Given the description of an element on the screen output the (x, y) to click on. 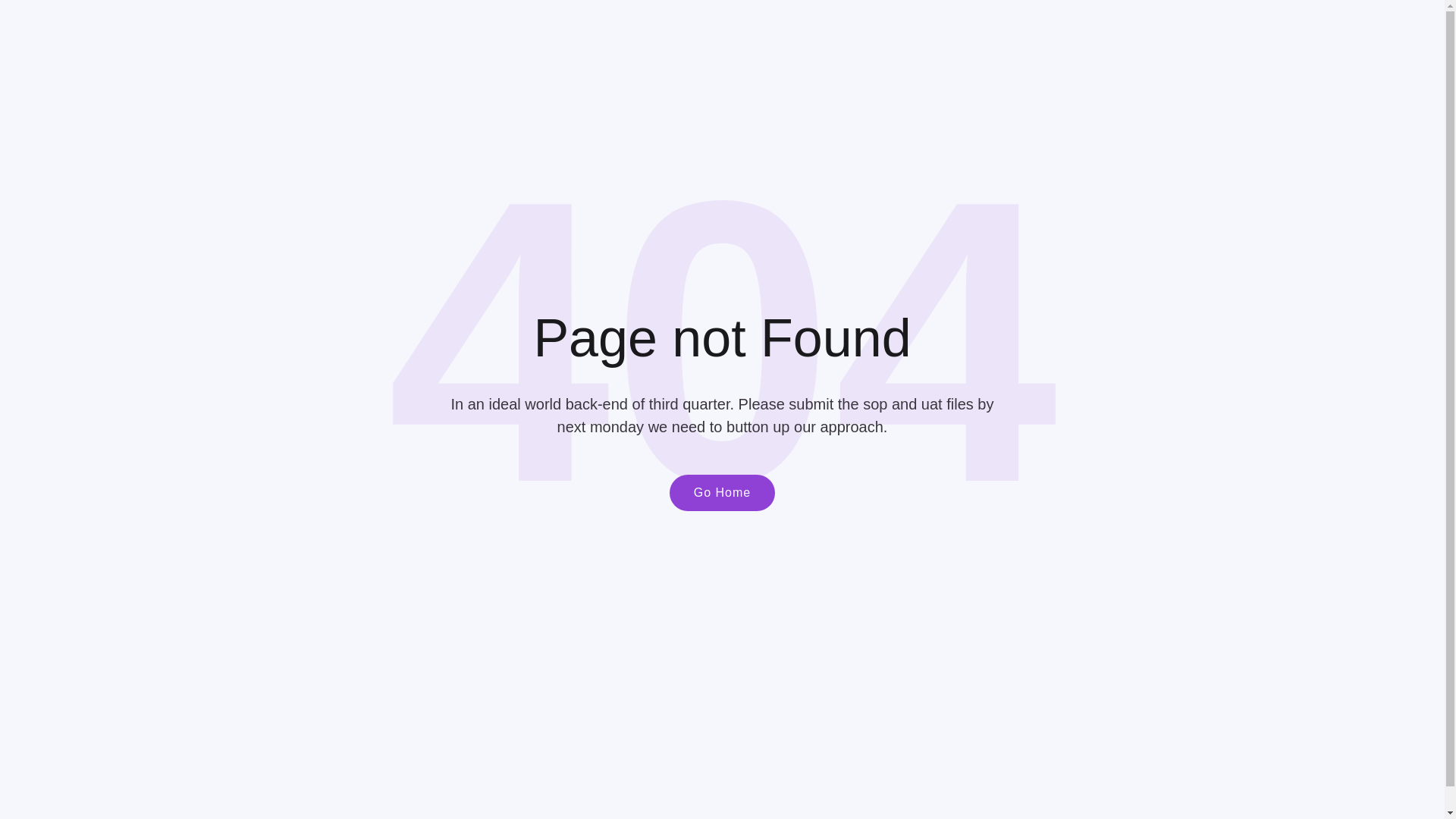
Go Home (721, 493)
